Given the description of an element on the screen output the (x, y) to click on. 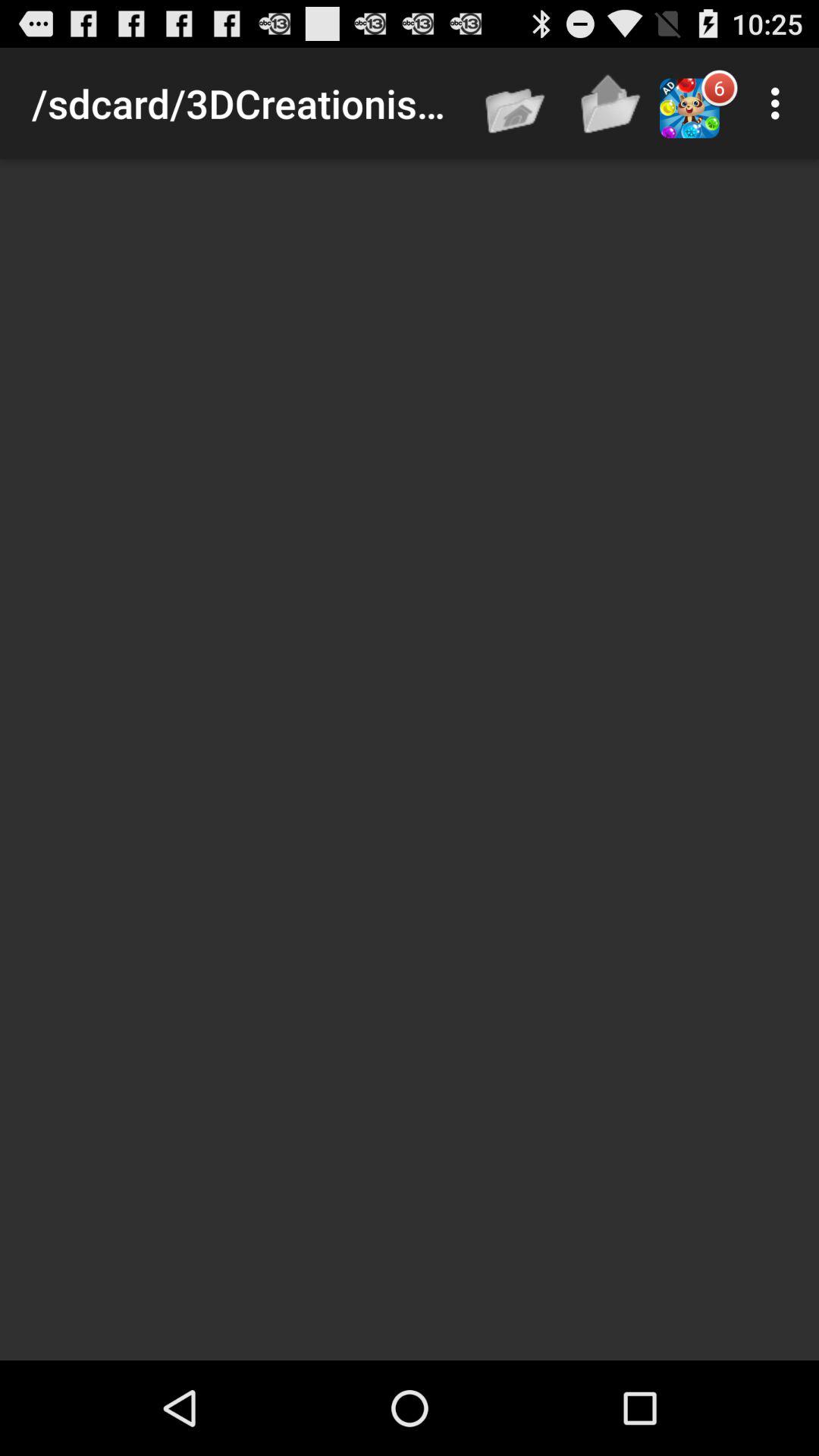
turn on icon at the top (516, 103)
